Given the description of an element on the screen output the (x, y) to click on. 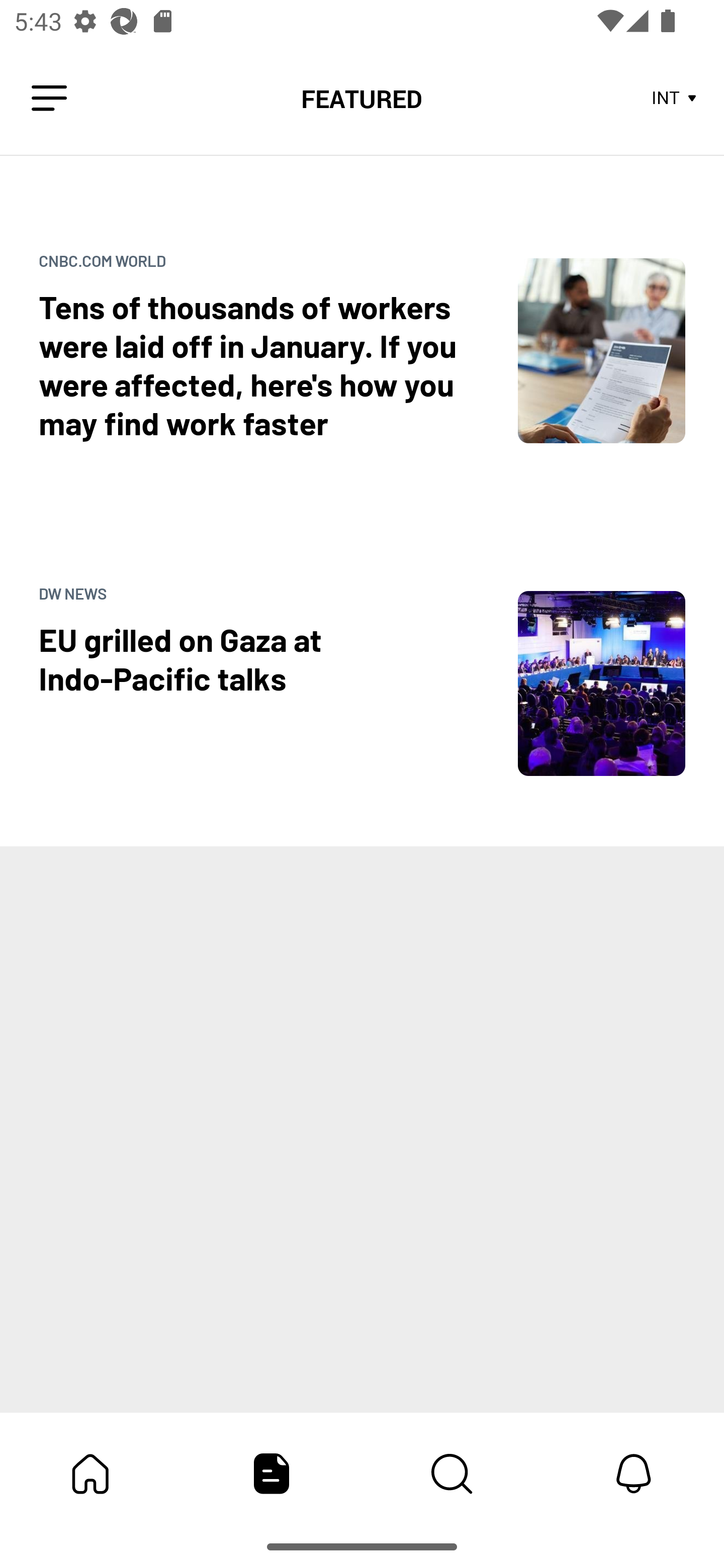
INT Store Area (674, 98)
Leading Icon (49, 98)
My Bundle (90, 1473)
Content Store (452, 1473)
Notifications (633, 1473)
